Given the description of an element on the screen output the (x, y) to click on. 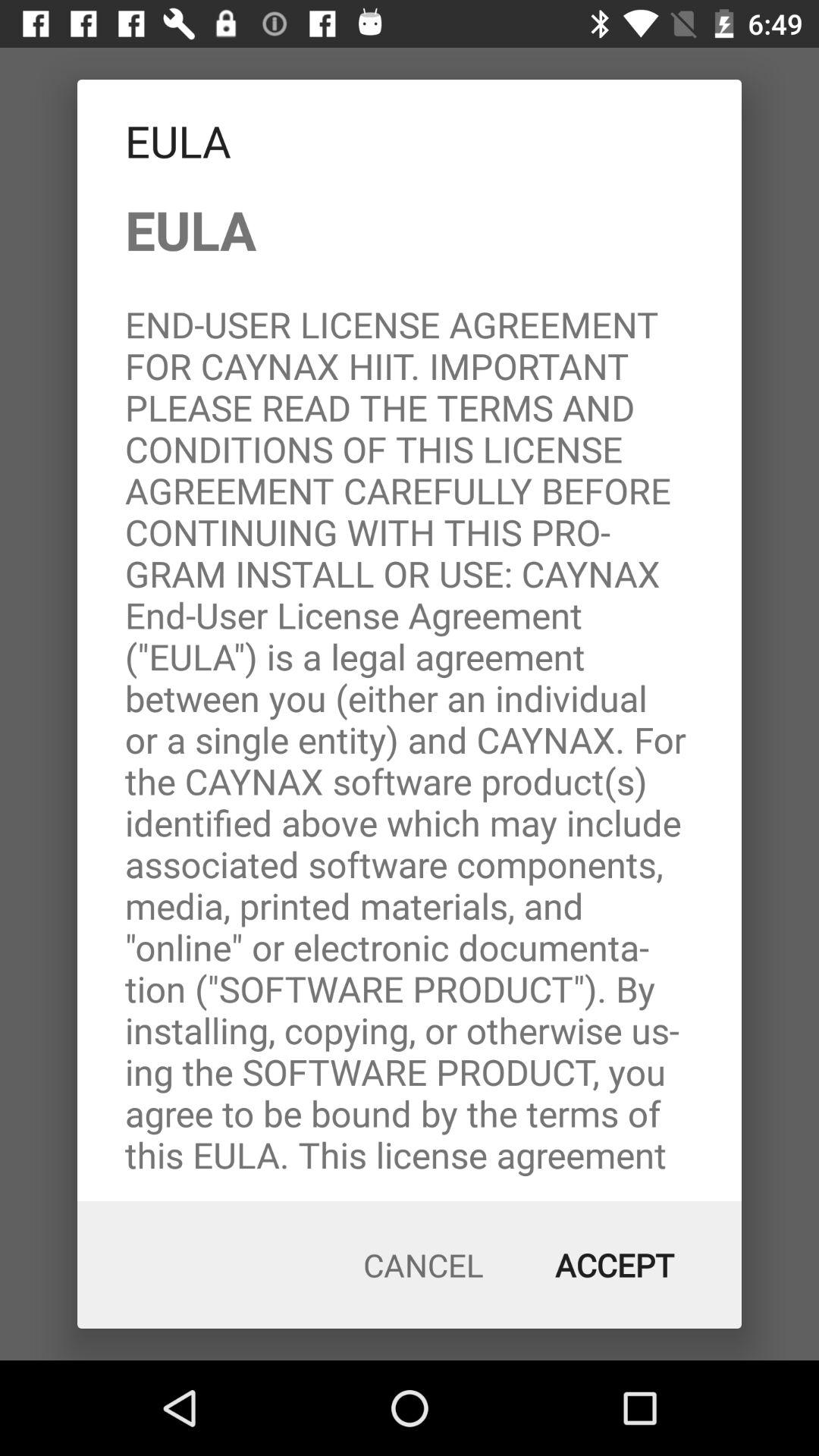
press item to the right of cancel item (613, 1264)
